Given the description of an element on the screen output the (x, y) to click on. 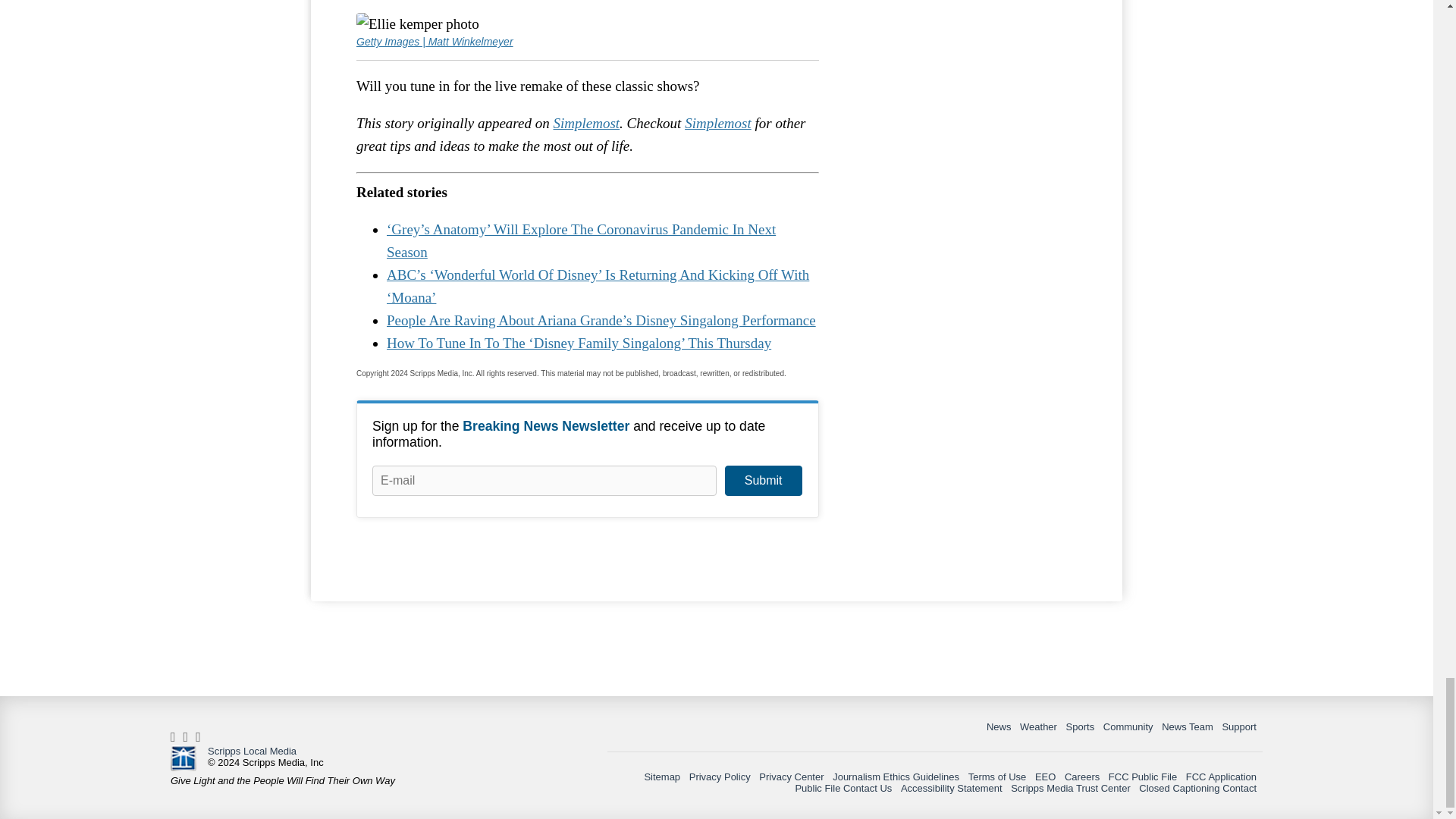
Submit (763, 481)
